Given the description of an element on the screen output the (x, y) to click on. 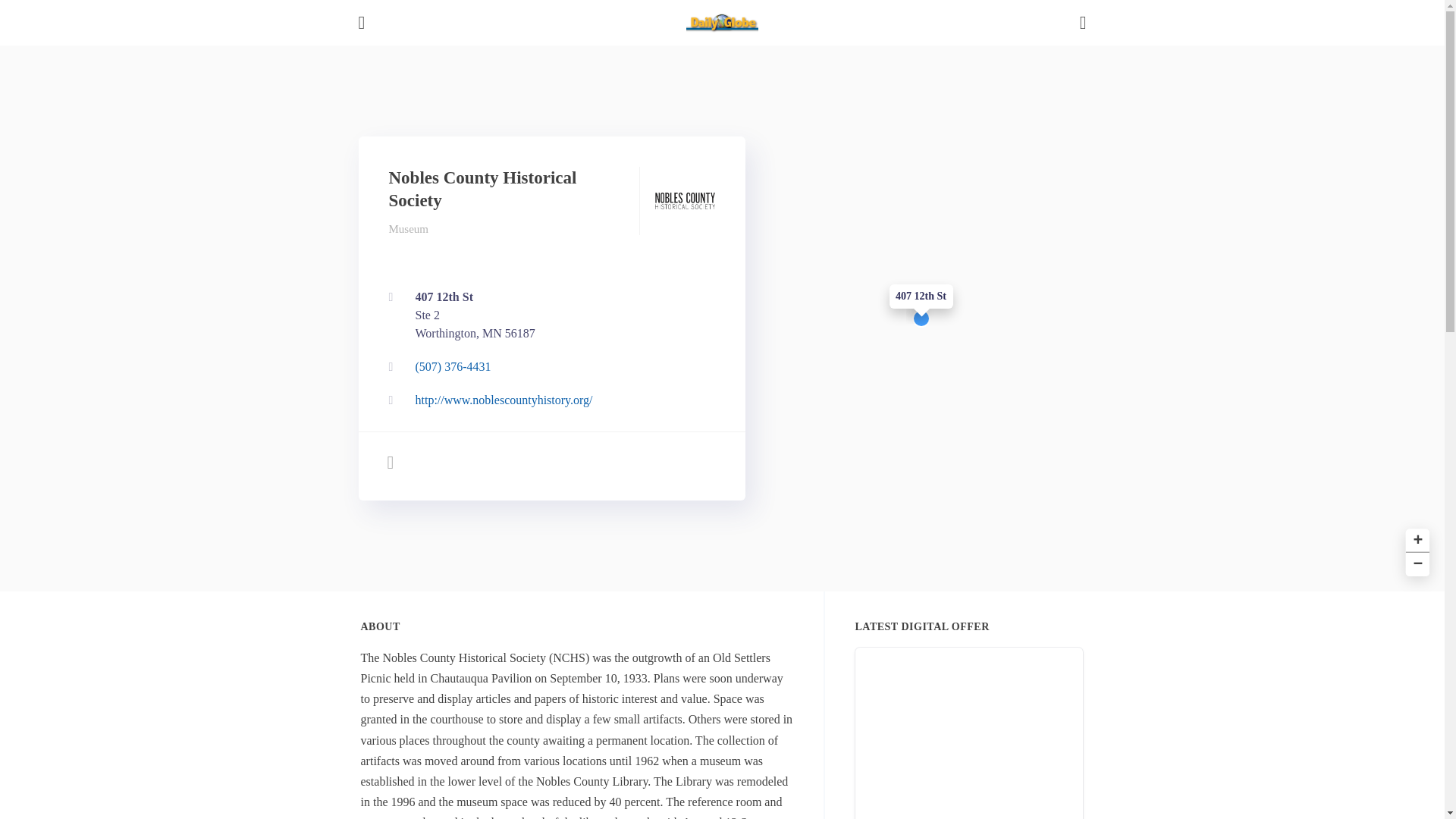
Origami widget number: 1938472 (969, 733)
Zoom out (1415, 562)
Call Phone Number (547, 315)
Open website in a new tab (547, 367)
Get directions (547, 400)
Zoom in (547, 315)
Museum (1415, 537)
